Given the description of an element on the screen output the (x, y) to click on. 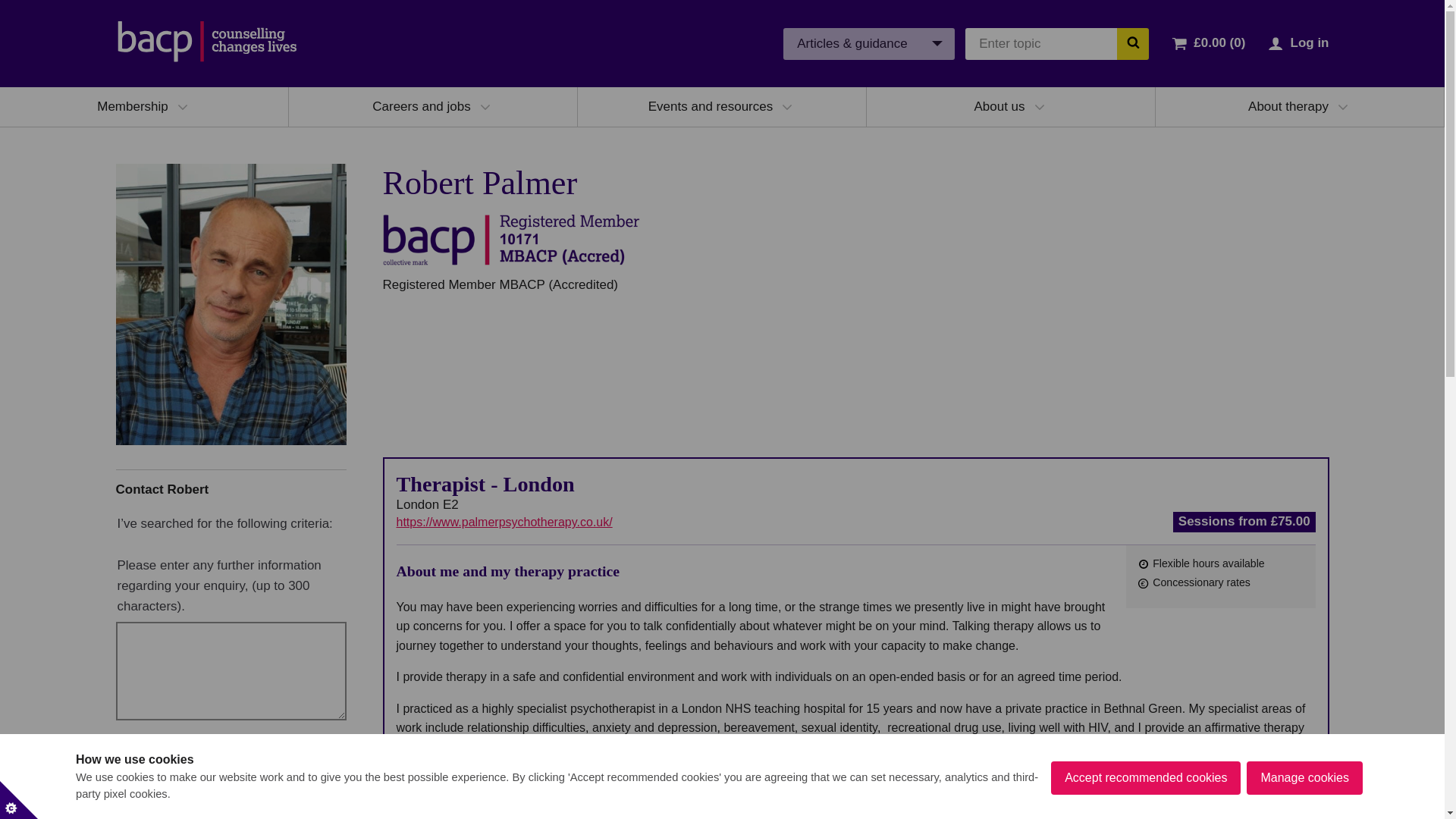
Accept recommended cookies (1145, 815)
Membership (132, 106)
Events and resources (710, 106)
Search the BACP website (1132, 42)
Careers and jobs (421, 106)
Log in (1309, 42)
Manage cookies (1304, 808)
